Given the description of an element on the screen output the (x, y) to click on. 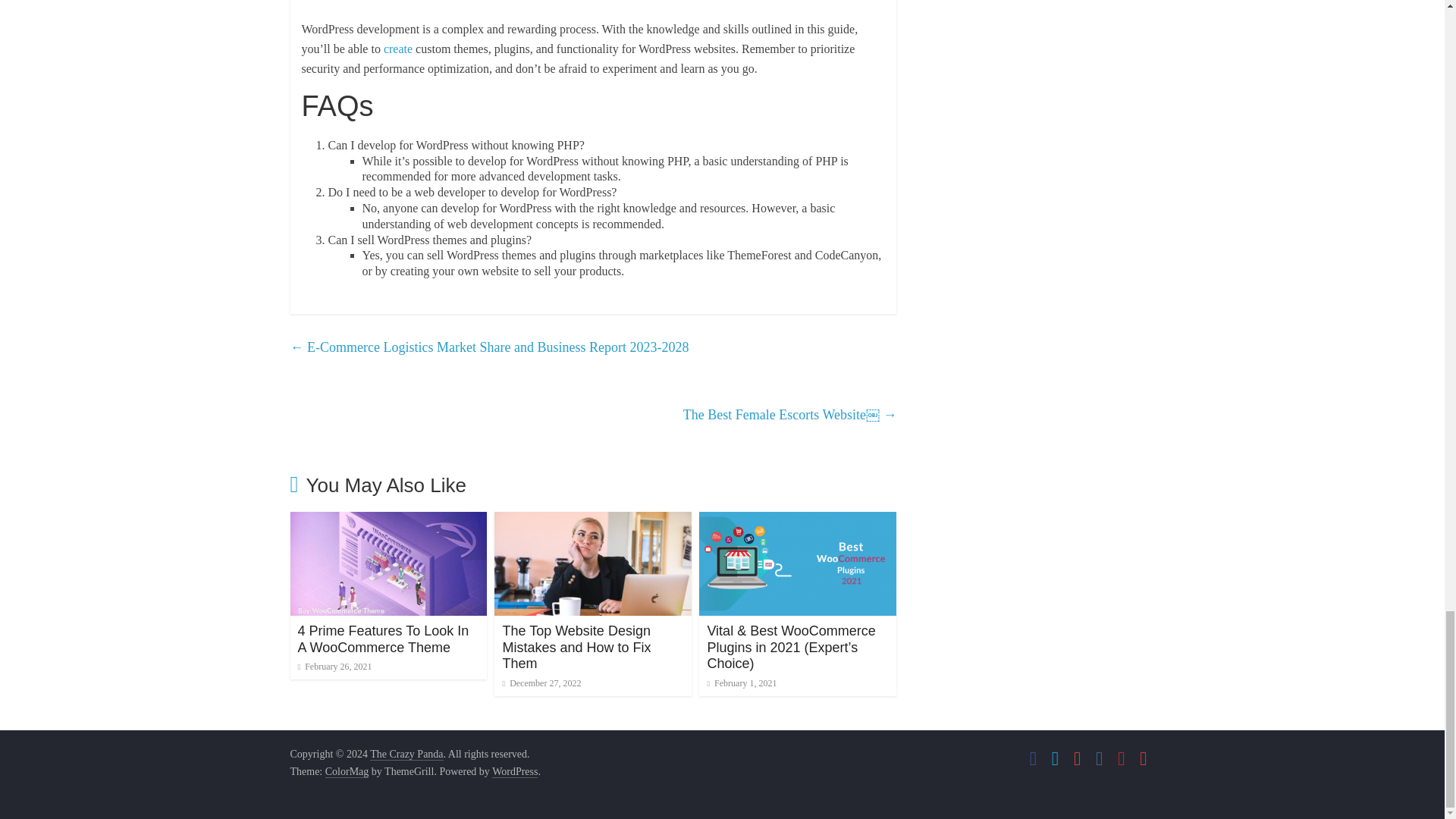
create (398, 48)
December 27, 2022 (541, 683)
The Top Website Design Mistakes and How to Fix Them (593, 521)
The Top Website Design Mistakes and How to Fix Them (576, 646)
12:25 pm (541, 683)
February 1, 2021 (741, 683)
4 Prime Features To Look In A WooCommerce Theme (382, 639)
6:18 am (741, 683)
February 26, 2021 (334, 665)
The Top Website Design Mistakes and How to Fix Them (576, 646)
